Given the description of an element on the screen output the (x, y) to click on. 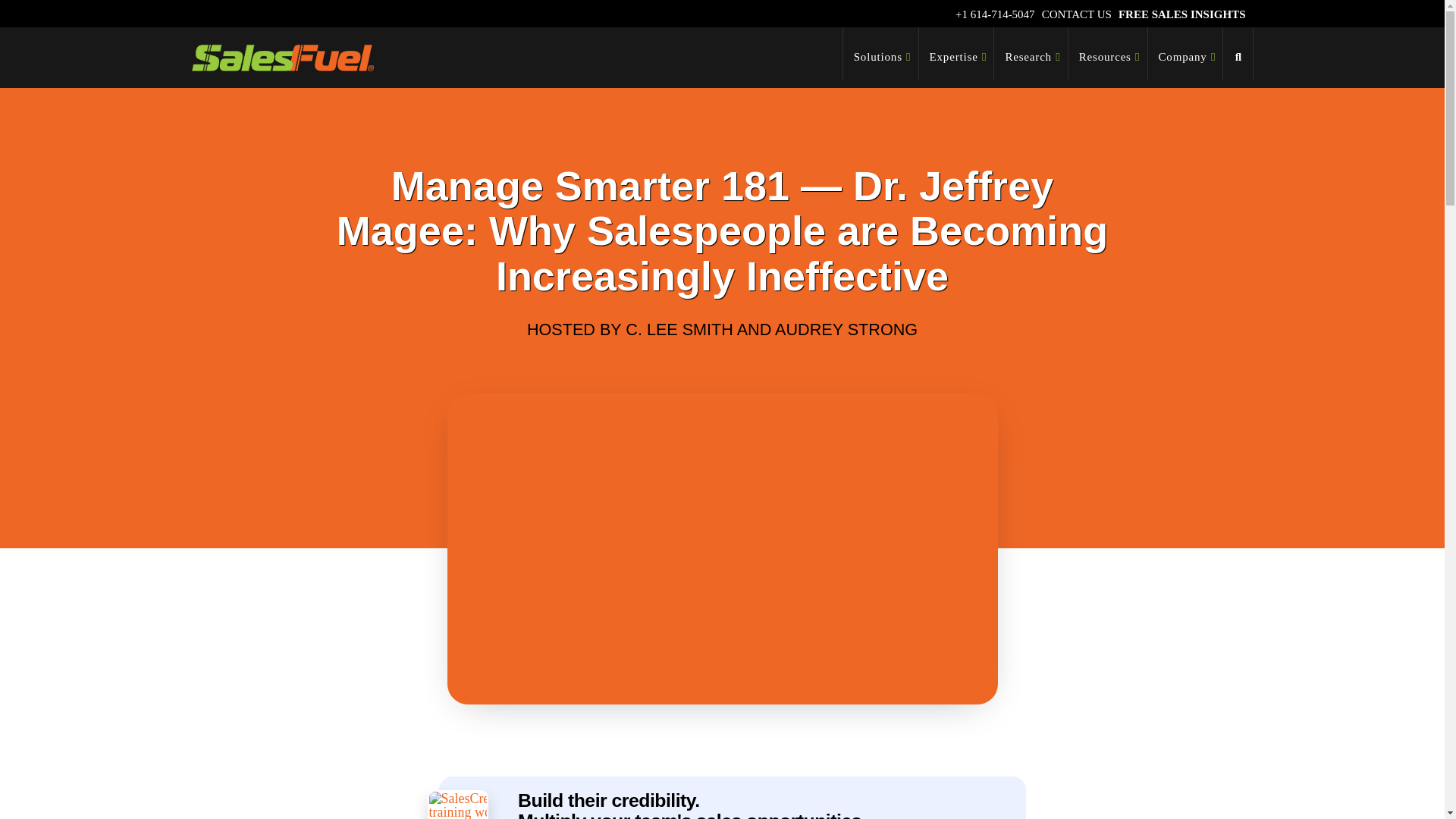
Company (1186, 53)
Research (1030, 53)
Expertise (956, 53)
Resources (1108, 53)
FREE SALES INSIGHTS (1182, 14)
Solutions (880, 53)
CONTACT US (1077, 14)
